Given the description of an element on the screen output the (x, y) to click on. 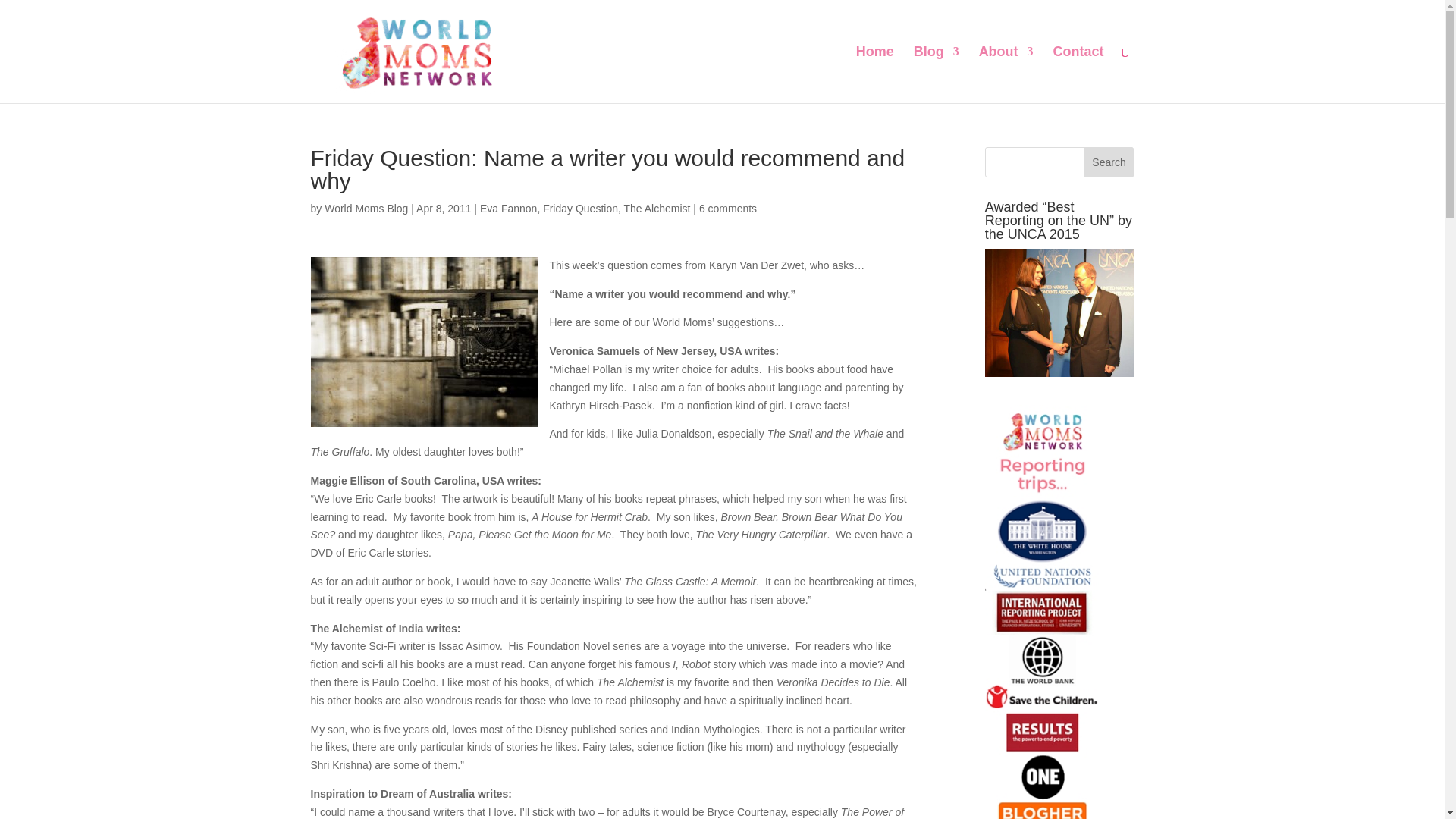
Contact (1077, 74)
Search (1109, 162)
Posts by World Moms Blog (365, 208)
About (1005, 74)
